Given the description of an element on the screen output the (x, y) to click on. 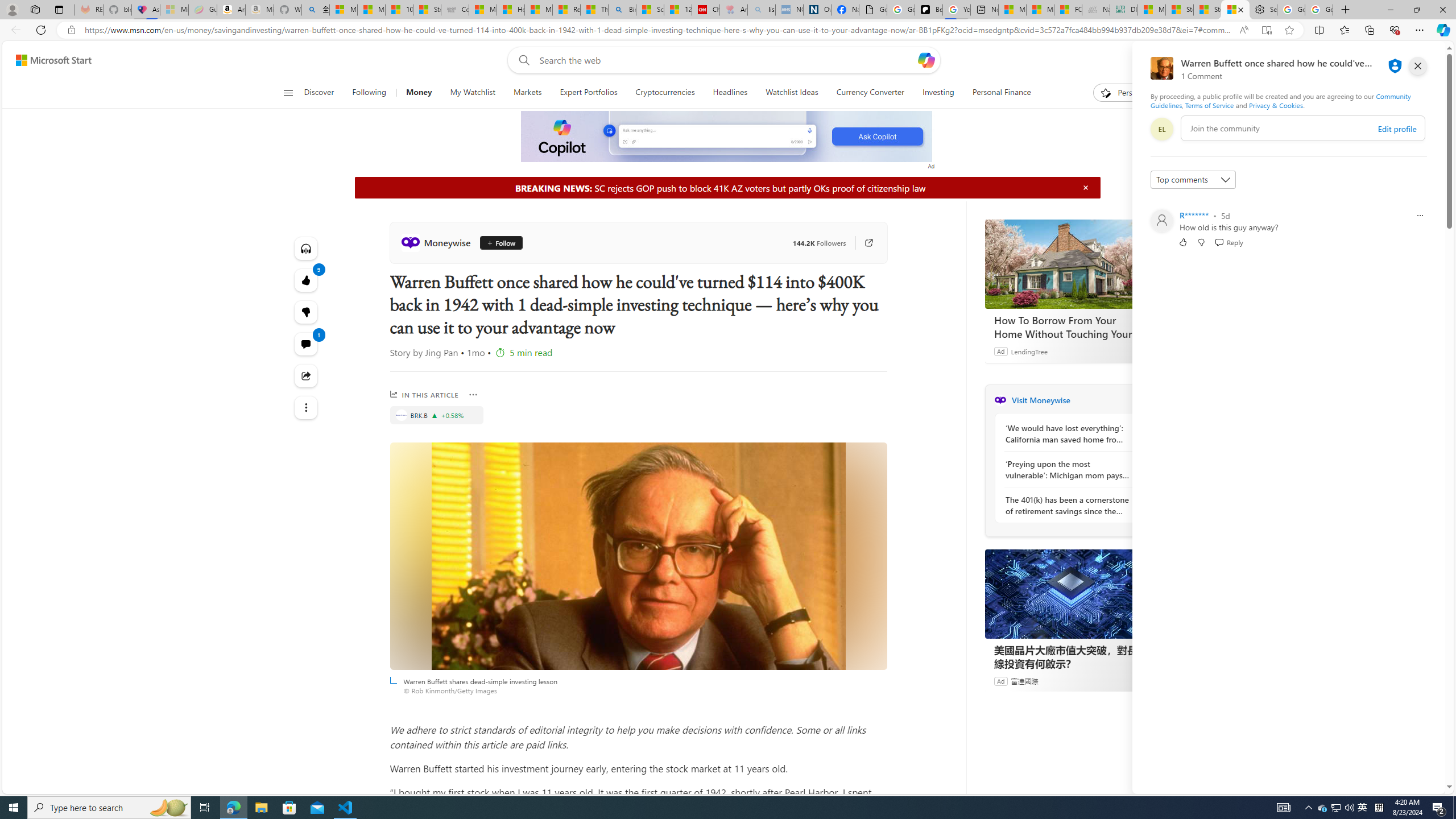
Arthritis: Ask Health Professionals - Sleeping (733, 9)
Investing (937, 92)
Money (418, 92)
12 Popular Science Lies that Must be Corrected (678, 9)
My Watchlist (472, 92)
Community Guidelines (1280, 100)
Expert Portfolios (588, 92)
9 (305, 312)
Moneywise (1000, 399)
